Given the description of an element on the screen output the (x, y) to click on. 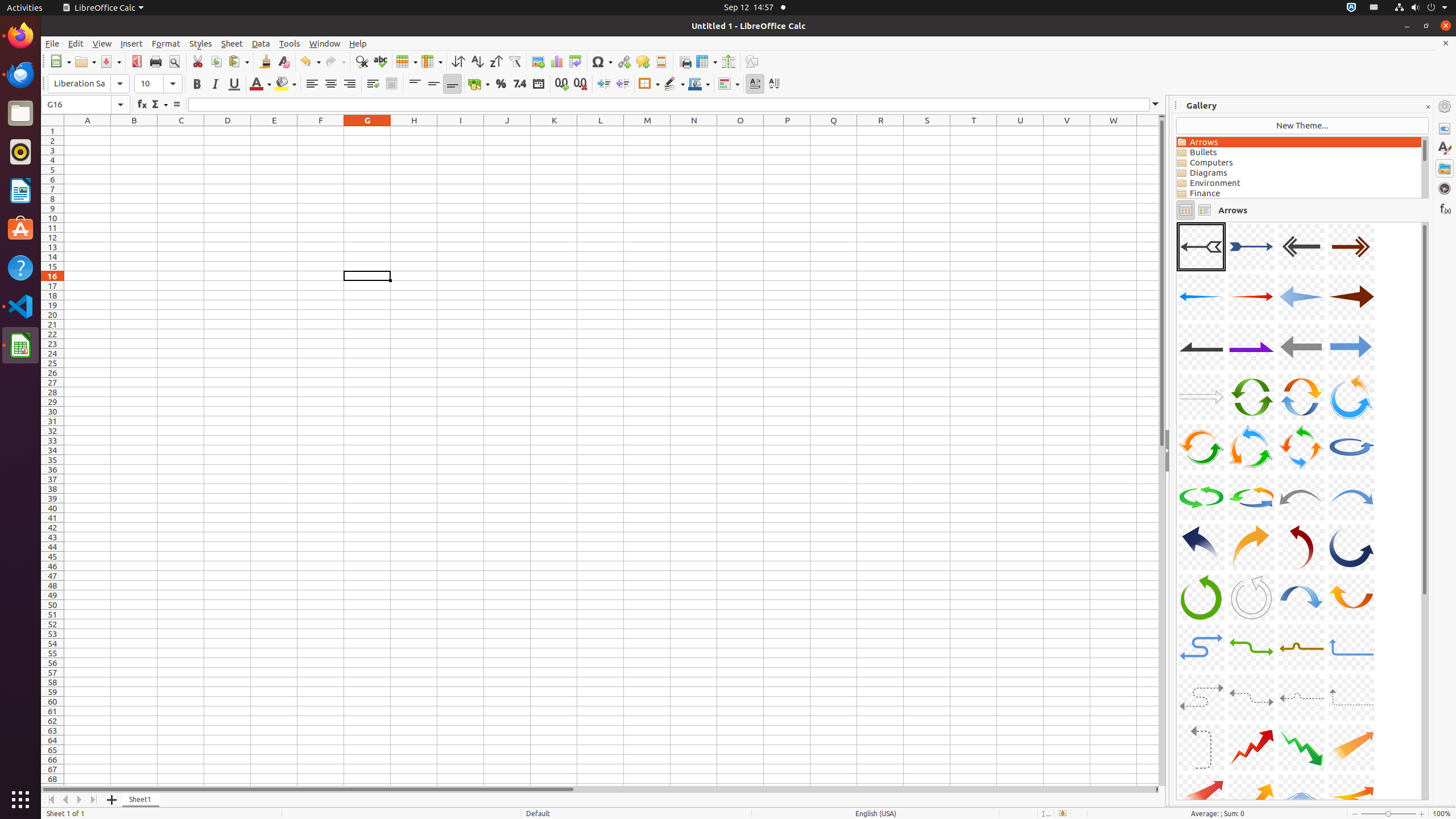
R1 Element type: table-cell (880, 130)
Center Vertically Element type: push-button (433, 83)
Align Top Element type: push-button (414, 83)
V1 Element type: table-cell (1066, 130)
M1 Element type: table-cell (646, 130)
